Given the description of an element on the screen output the (x, y) to click on. 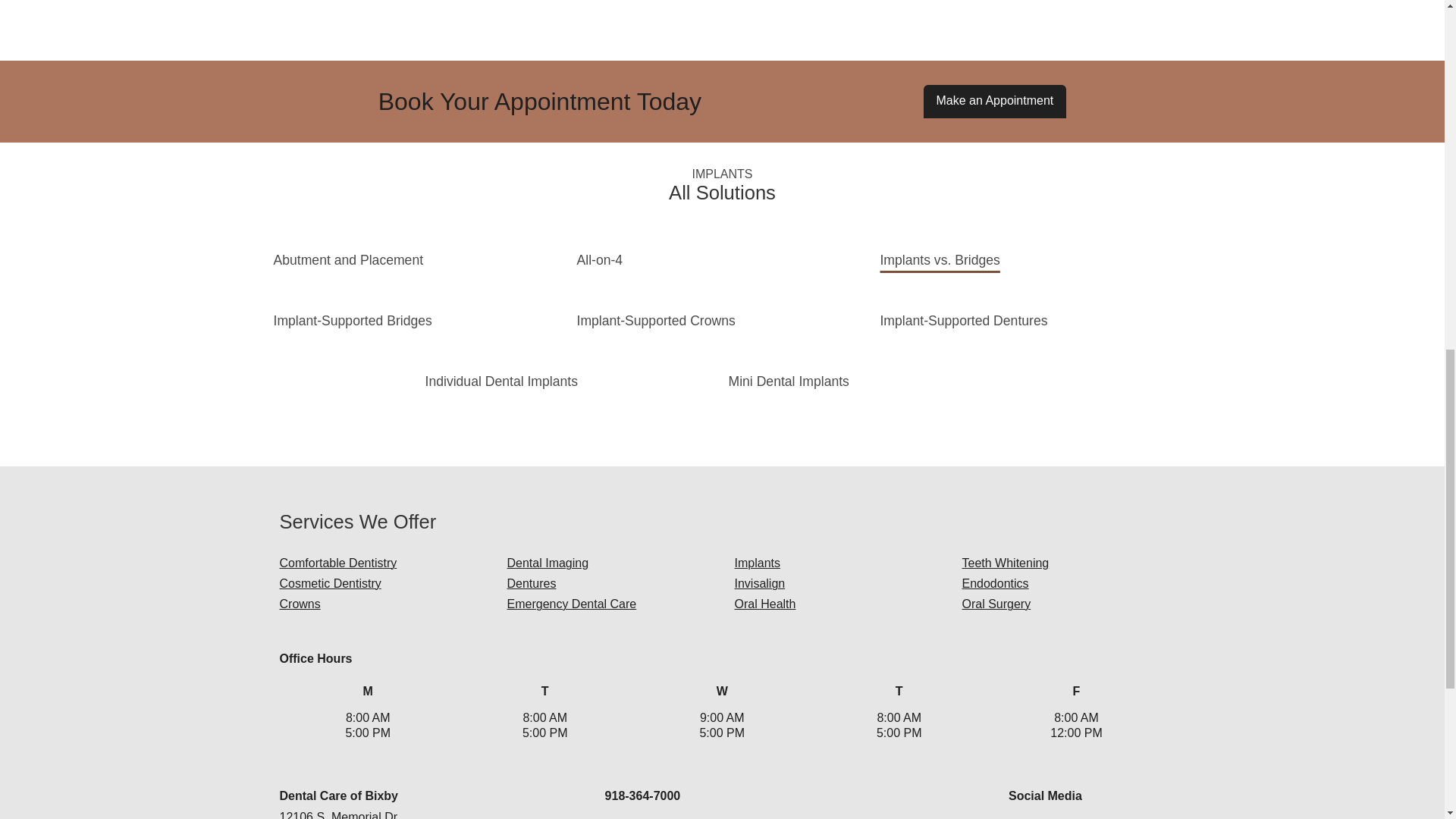
Implant-Supported Crowns (655, 320)
Oral Surgery (995, 603)
Crowns (299, 603)
All-on-4 (599, 259)
Implants (755, 562)
Oral Health (763, 603)
Dentures (531, 583)
Invisalign (758, 583)
Dental Imaging (547, 562)
Implants vs. Bridges (938, 259)
Make an Appointment (995, 101)
Individual Dental Implants (501, 381)
Mini Dental Implants (788, 381)
Implant-Supported Bridges (352, 320)
918-364-7000 (643, 795)
